Given the description of an element on the screen output the (x, y) to click on. 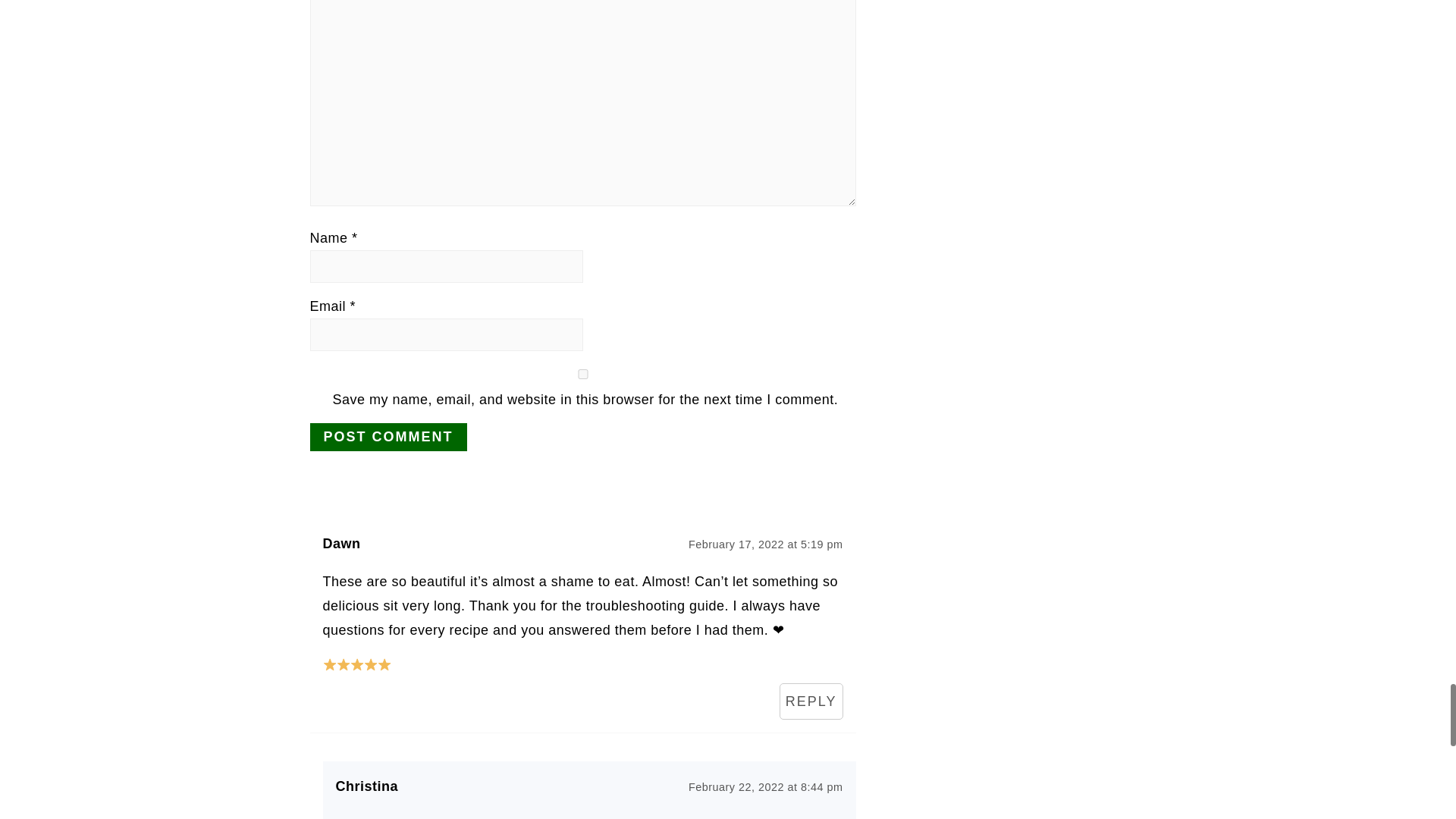
Post Comment (386, 437)
yes (582, 374)
